Given the description of an element on the screen output the (x, y) to click on. 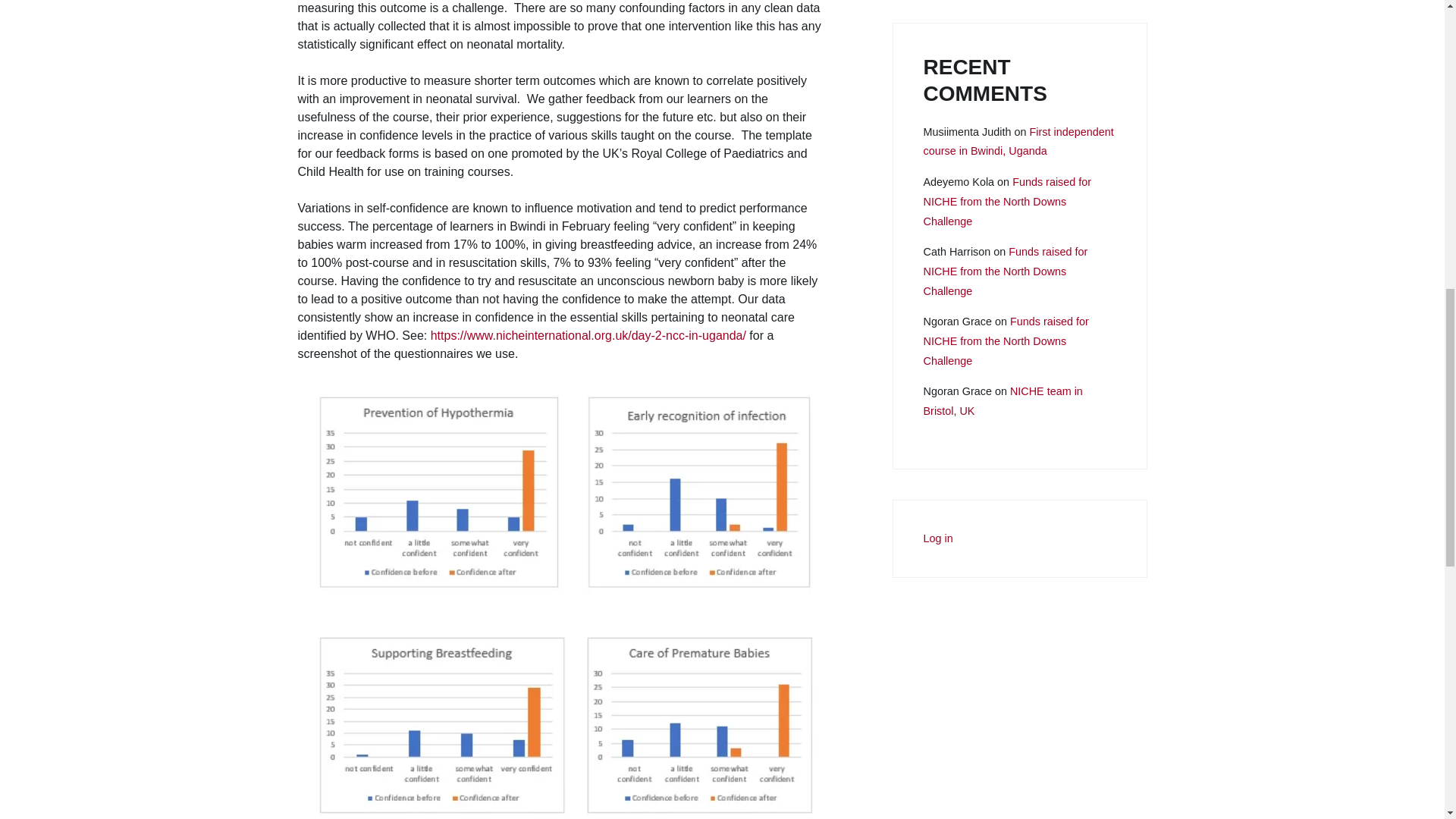
Funds raised for NICHE from the North Downs Challenge (1006, 341)
Funds raised for NICHE from the North Downs Challenge (1007, 202)
NICHE team in Bristol, UK (1003, 401)
First independent course in Bwindi, Uganda (1018, 142)
Log in (938, 539)
Funds raised for NICHE from the North Downs Challenge (1005, 271)
